Given the description of an element on the screen output the (x, y) to click on. 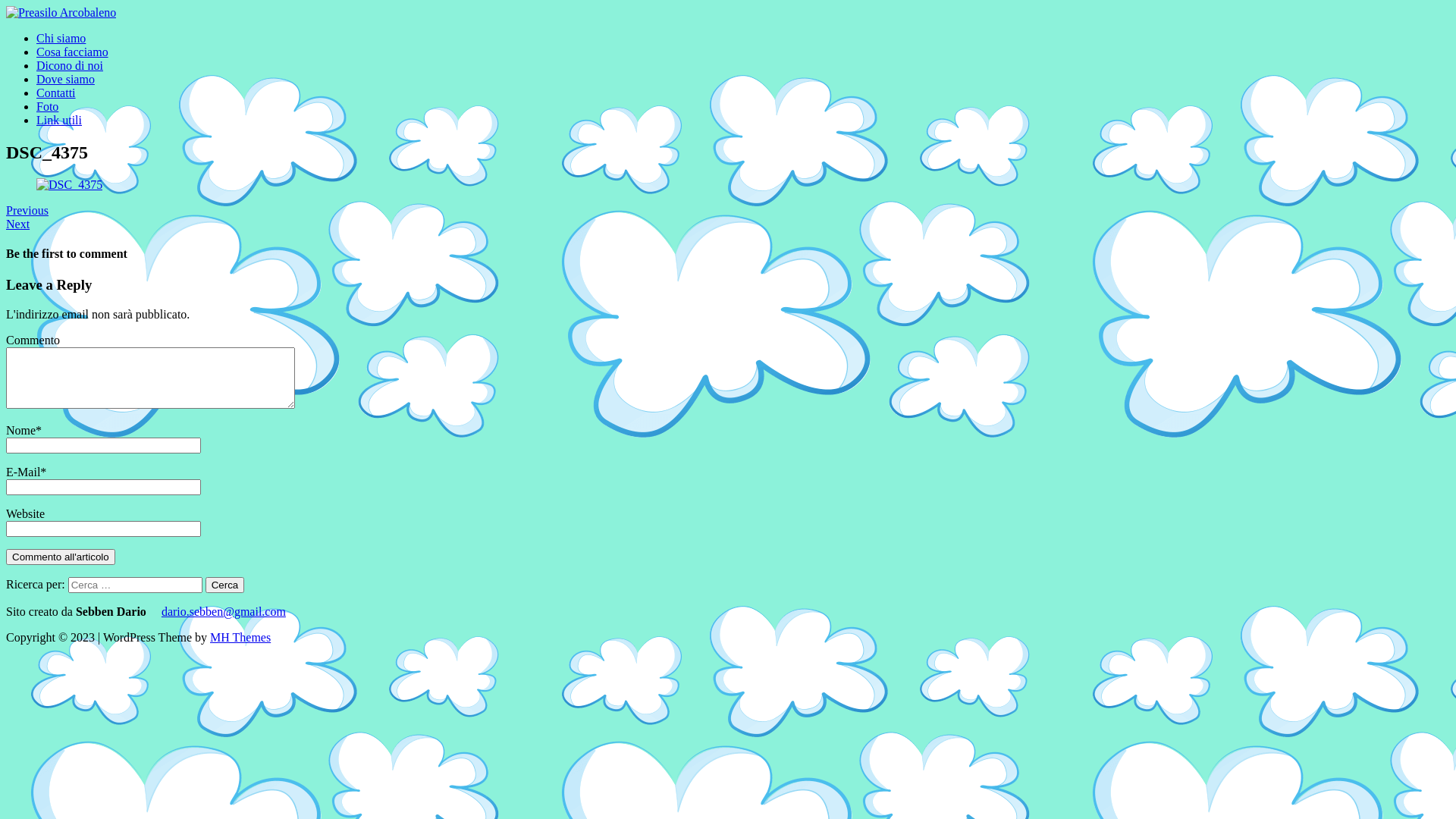
dario.sebben@gmail.com Element type: text (223, 611)
Cosa facciamo Element type: text (72, 51)
Link utili Element type: text (58, 119)
Preasilo Arcobaleno Element type: hover (61, 12)
Contatti Element type: text (55, 92)
Foto Element type: text (47, 106)
Cerca Element type: text (224, 585)
Commento all'articolo Element type: text (60, 556)
Dove siamo Element type: text (65, 78)
Dicono di noi Element type: text (69, 65)
Previous Element type: text (27, 209)
Next Element type: text (17, 223)
Chi siamo Element type: text (60, 37)
MH Themes Element type: text (240, 636)
DSC_4375 Element type: hover (69, 184)
